Given the description of an element on the screen output the (x, y) to click on. 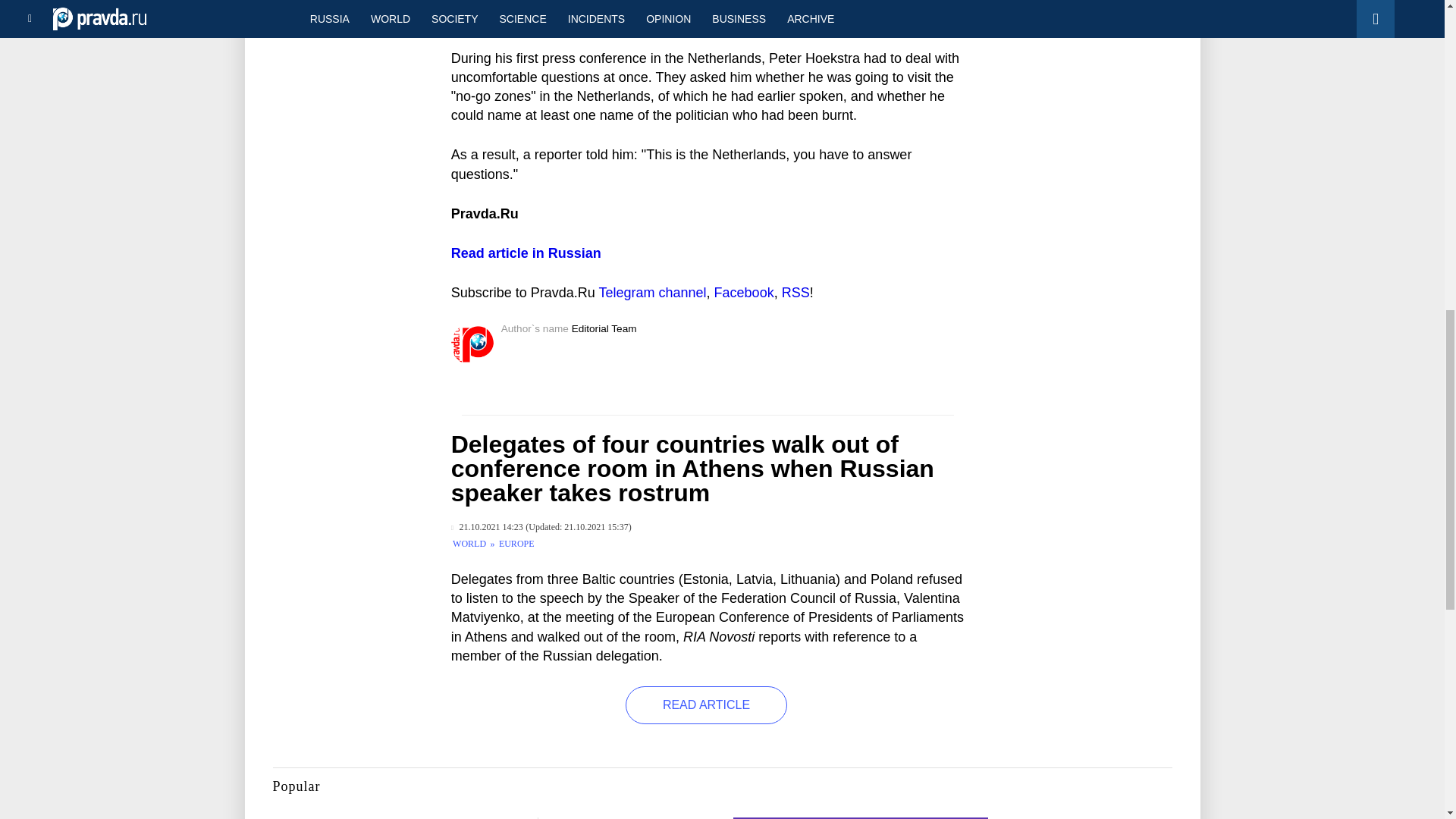
Telegram channel (652, 292)
Facebook (744, 292)
Back to top (1418, 79)
Published (486, 527)
Read article in Russian (526, 253)
RSS (795, 292)
